Given the description of an element on the screen output the (x, y) to click on. 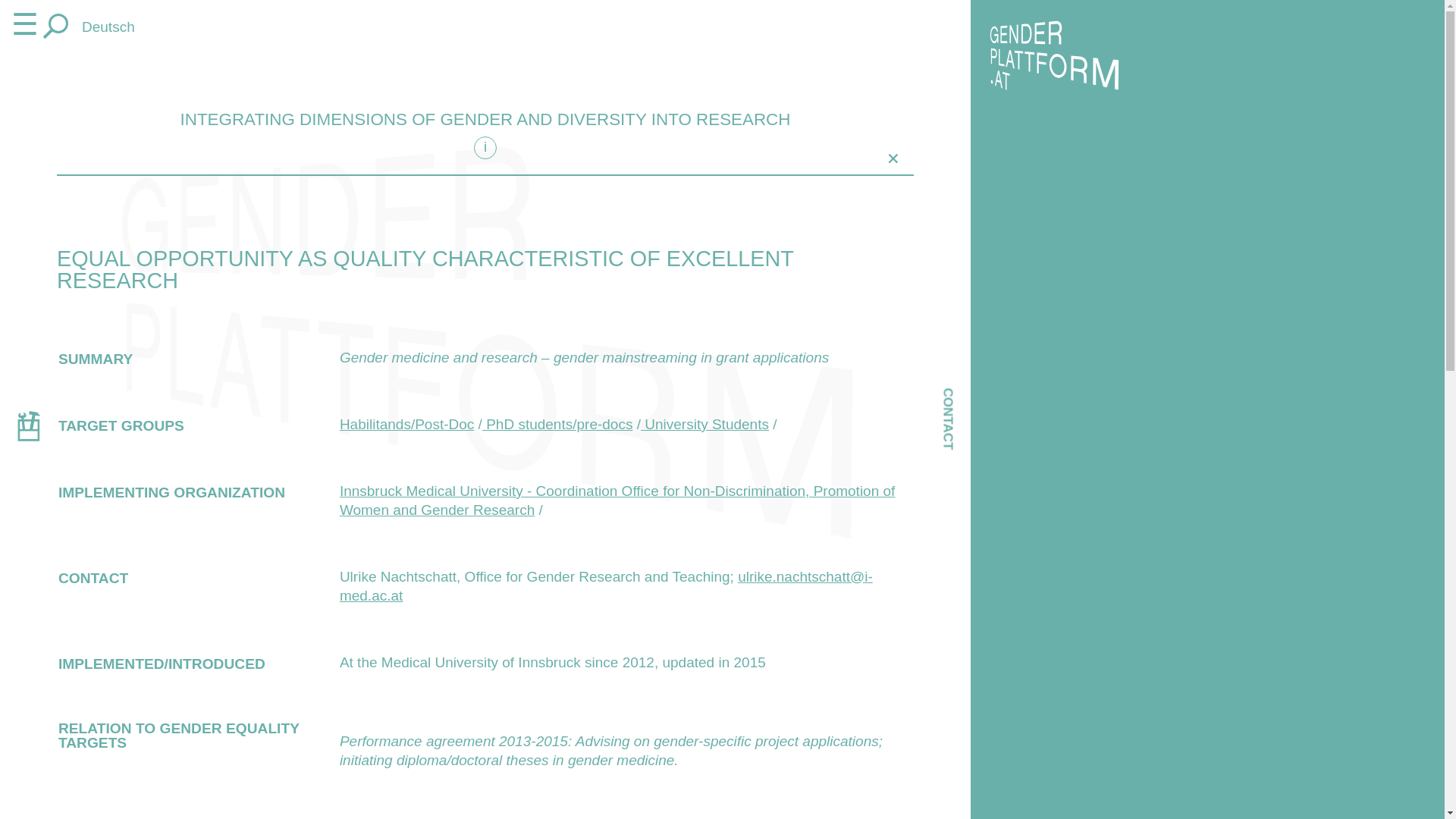
CONTACT (976, 389)
INTEGRATING DIMENSIONS OF GENDER AND DIVERSITY INTO RESEARCH (485, 118)
University Students (704, 424)
contact information (976, 389)
View all posts in University Students (704, 424)
Deutsch (108, 26)
